Given the description of an element on the screen output the (x, y) to click on. 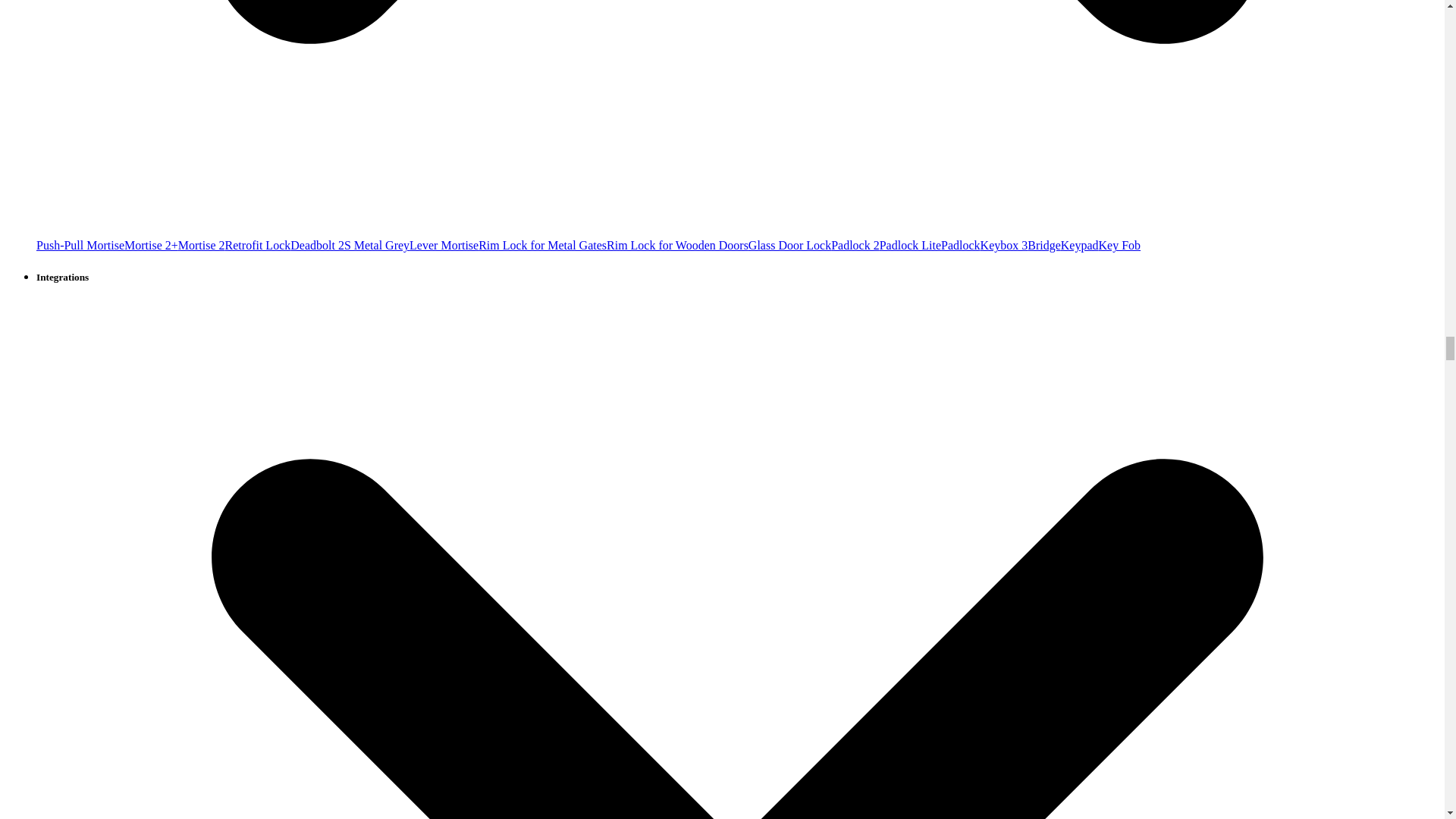
Bridge (1044, 245)
Padlock (959, 245)
Rim Lock for Metal Gates (543, 245)
Retrofit Lock (258, 245)
Keybox 3 (1003, 245)
Mortise 2 (201, 245)
Push-Pull Mortise (79, 245)
Glass Door Lock (789, 245)
Rim Lock for Wooden Doors (677, 245)
Padlock Lite (909, 245)
Deadbolt 2S Metal Grey (349, 245)
Lever Mortise (444, 245)
Padlock 2 (855, 245)
